Given the description of an element on the screen output the (x, y) to click on. 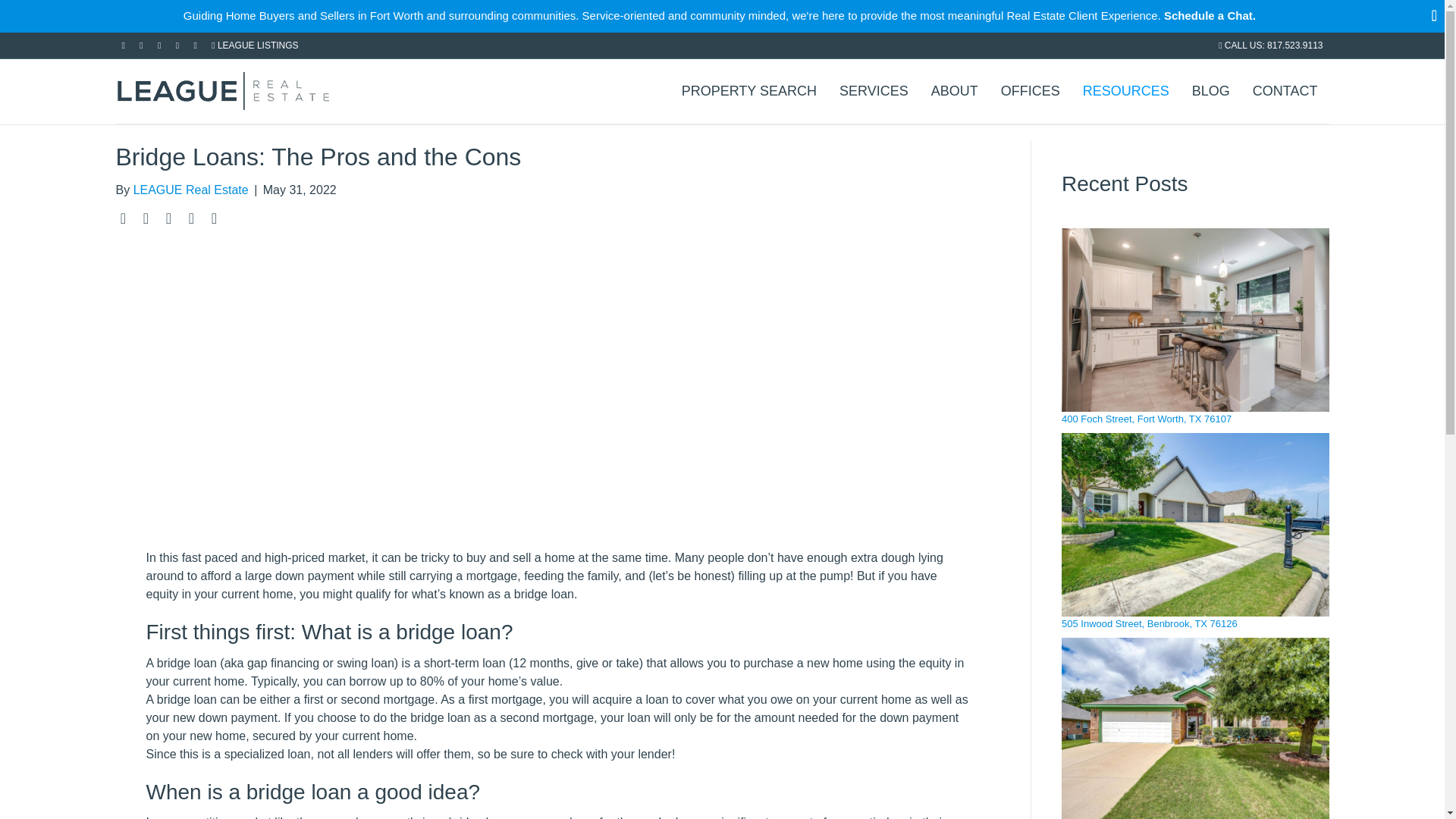
PROPERTY SEARCH (748, 90)
LEAGUE LISTINGS (254, 44)
CONTACT (1285, 90)
LEAGUE Real Estate (190, 189)
SERVICES (874, 90)
OFFICES (1030, 90)
BLOG (1210, 90)
ABOUT (955, 90)
CALL US: 817.523.9113 (1269, 44)
YouTube video player (557, 393)
